Given the description of an element on the screen output the (x, y) to click on. 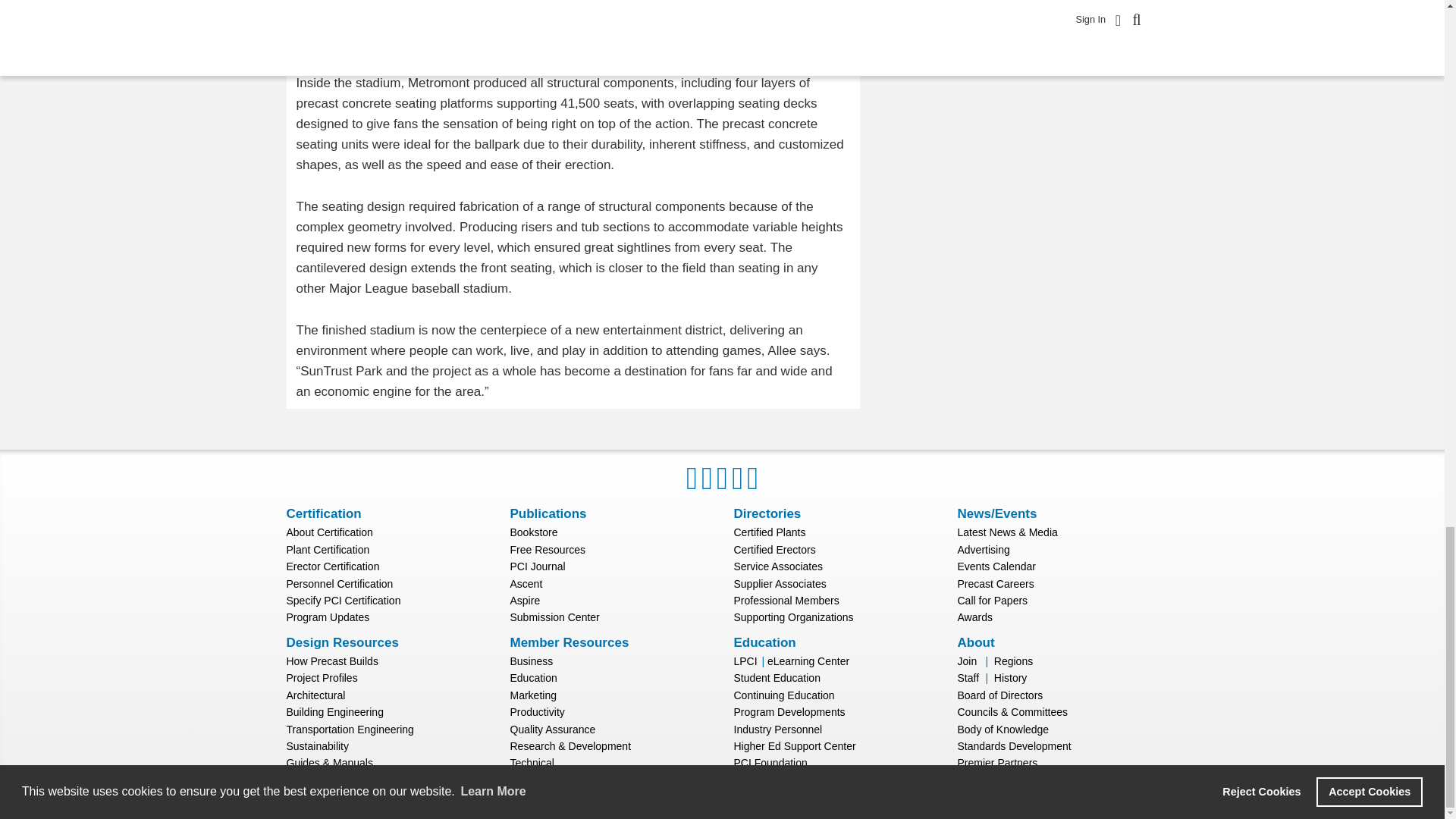
Specify PCI Certification (343, 600)
Plant Certification (327, 549)
Certification (323, 513)
Erector Certification (333, 566)
Personnel Certification (339, 583)
About Certification (329, 532)
